Given the description of an element on the screen output the (x, y) to click on. 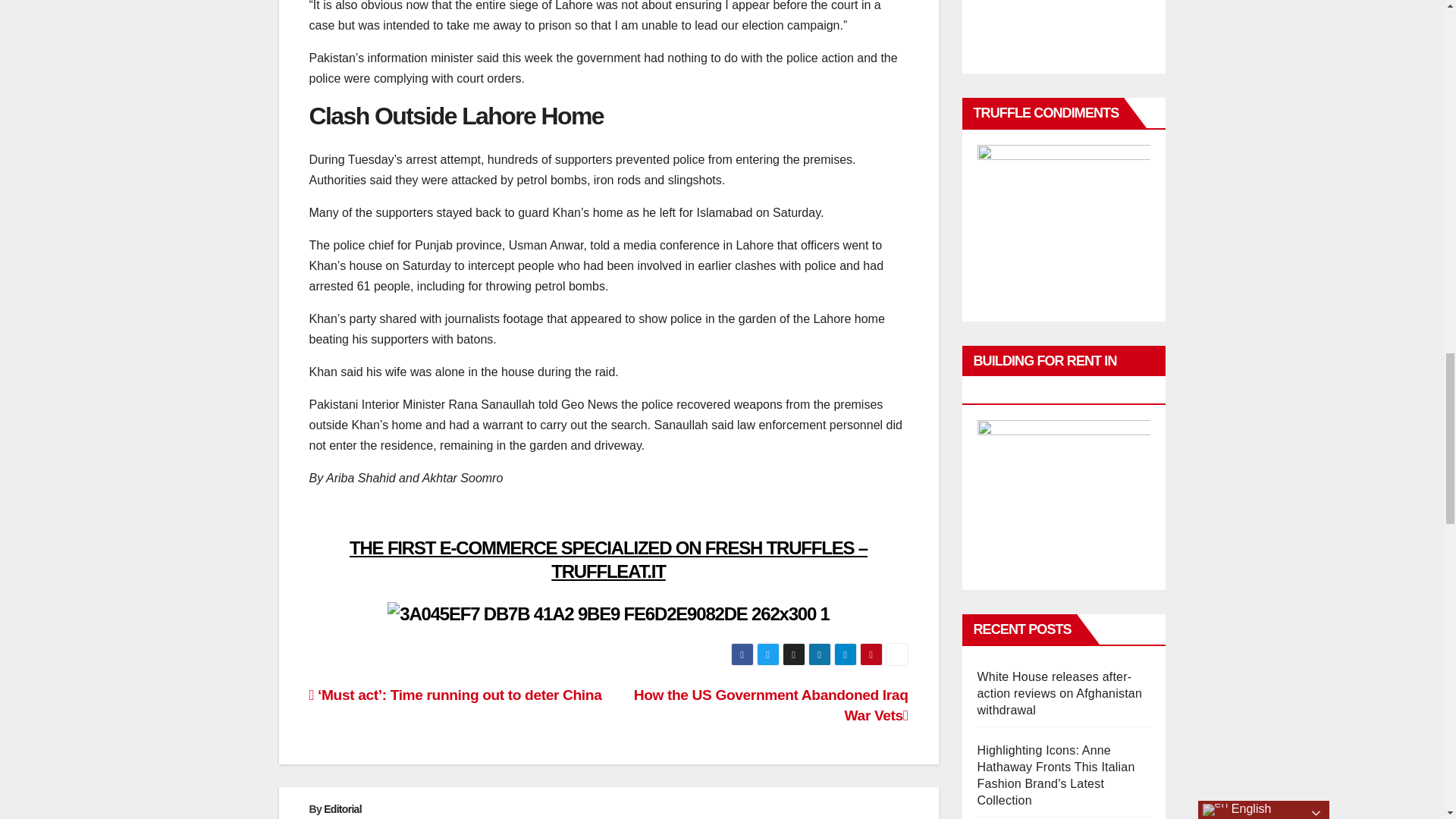
Editorial (342, 808)
How the US Government Abandoned Iraq War Vets (770, 705)
